Given the description of an element on the screen output the (x, y) to click on. 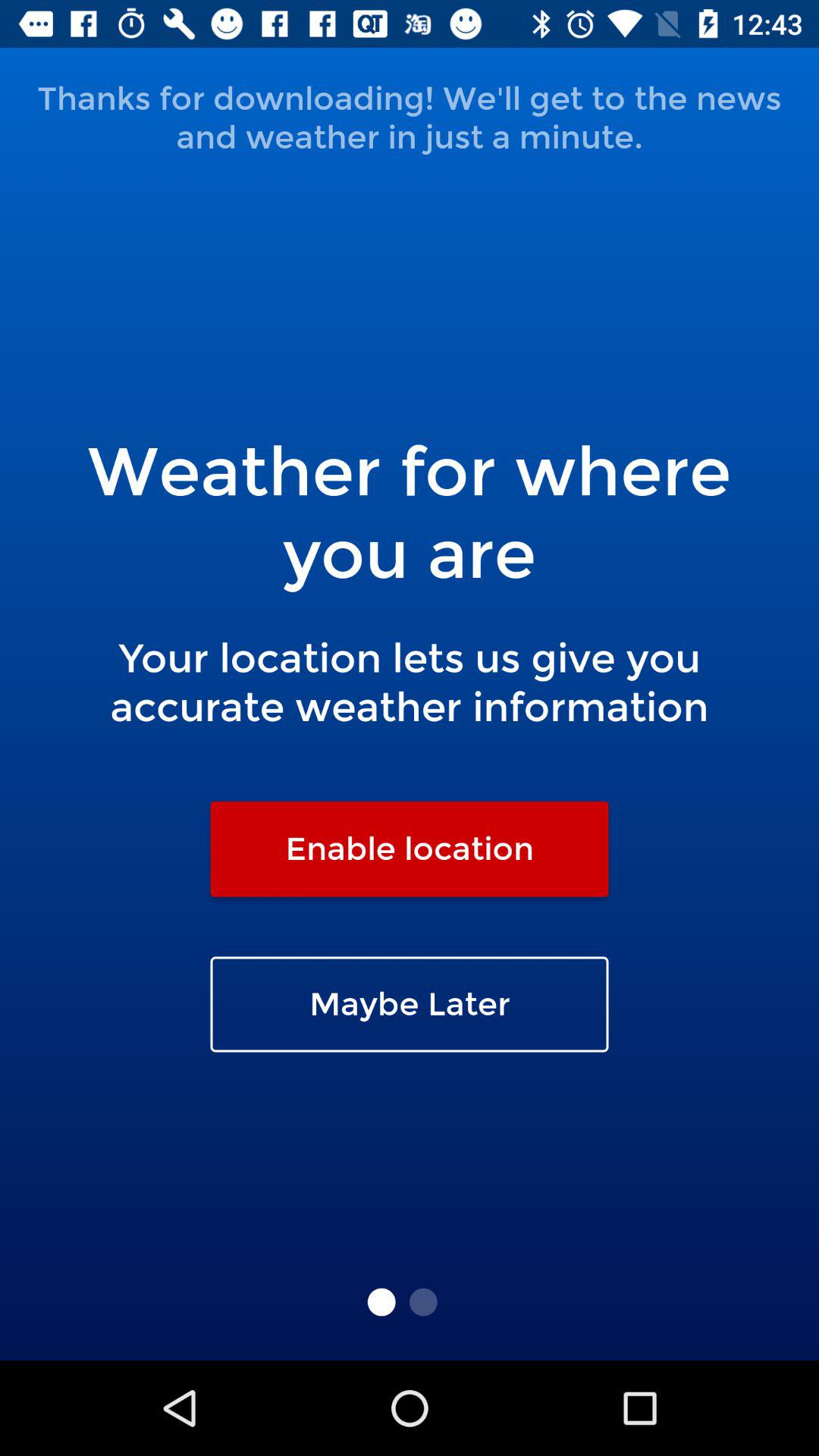
click icon below the your location lets (409, 848)
